Given the description of an element on the screen output the (x, y) to click on. 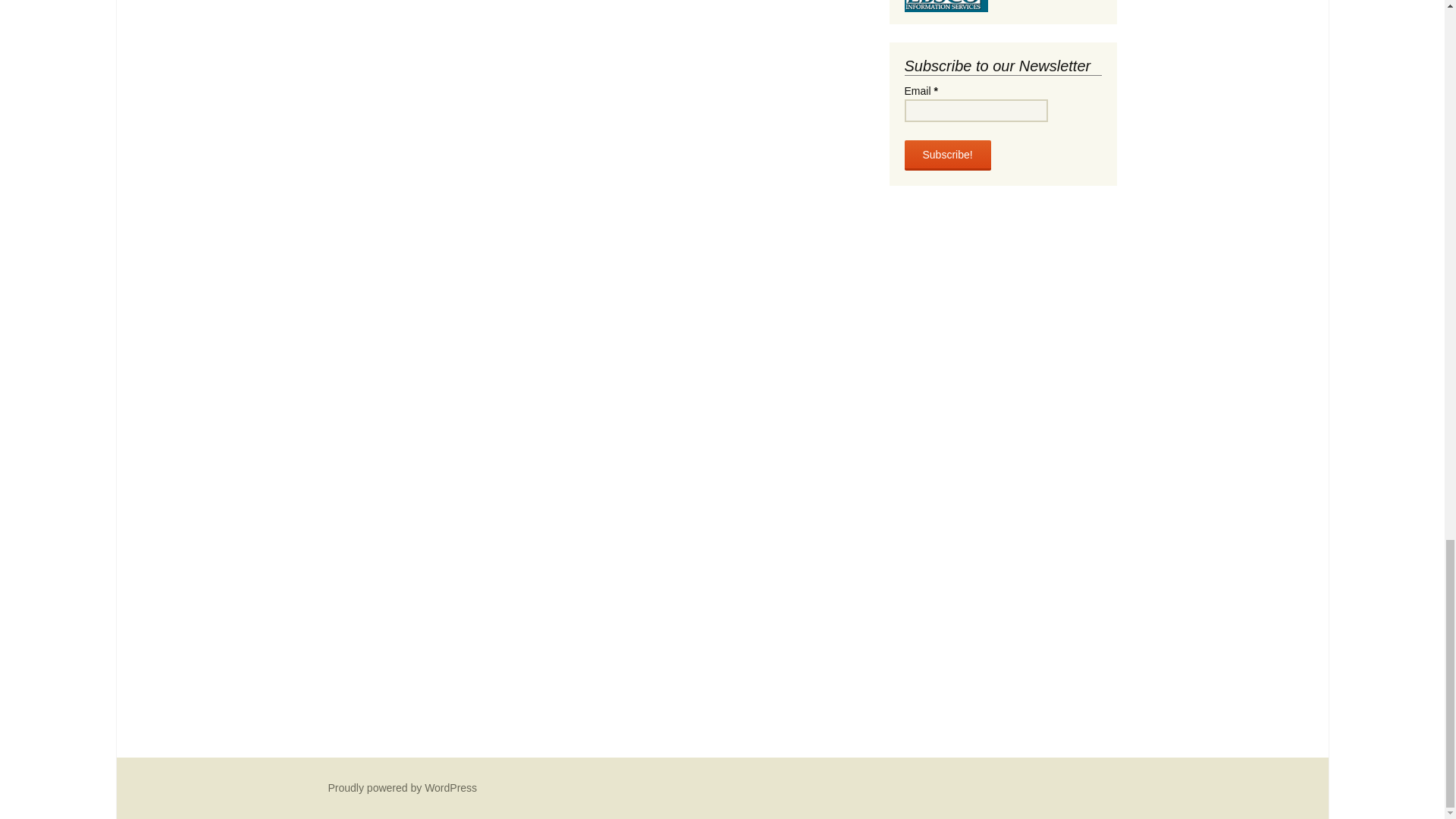
Subscribe! (947, 155)
Email (975, 110)
